Given the description of an element on the screen output the (x, y) to click on. 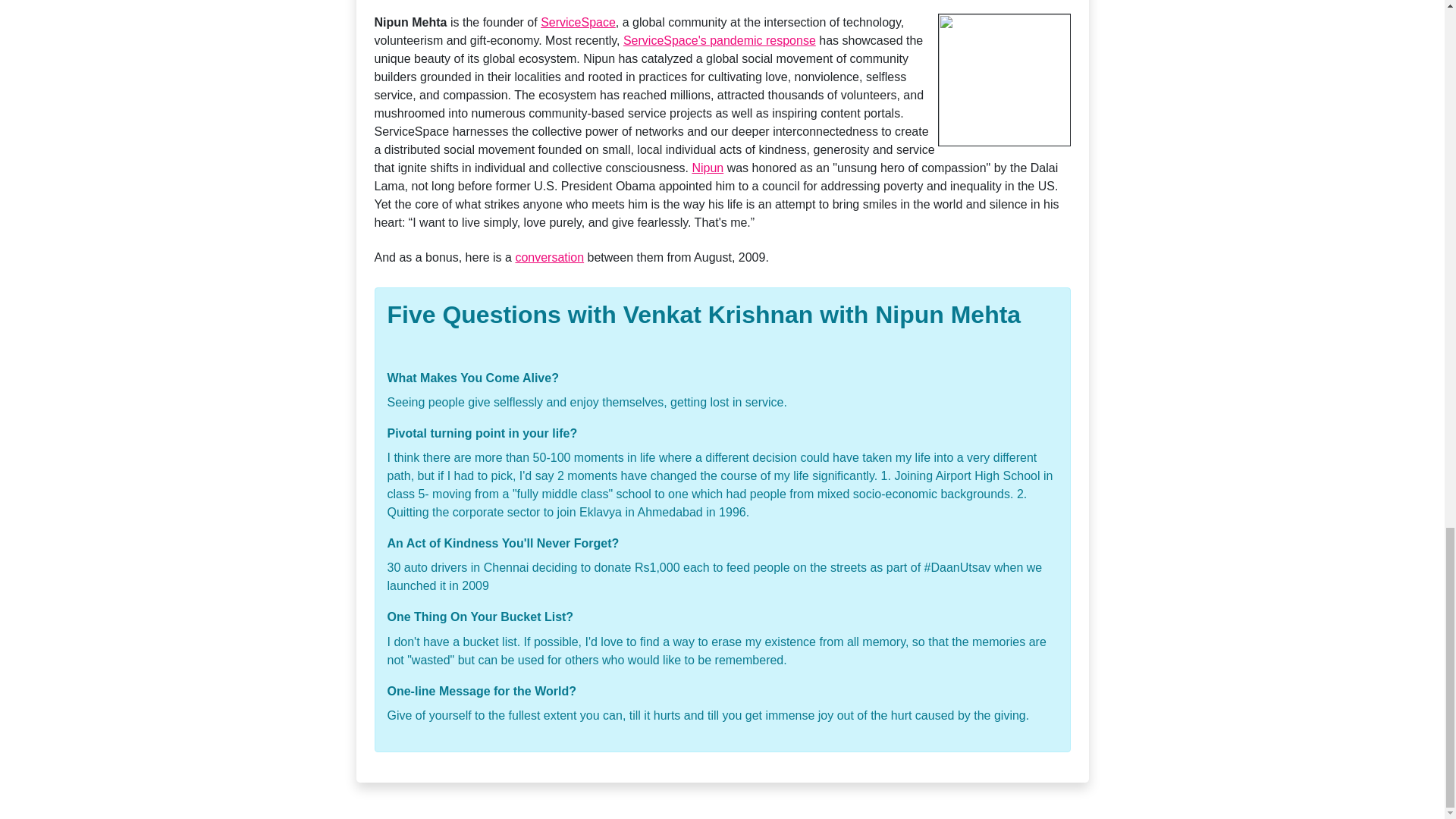
conversation (549, 256)
ServiceSpace's pandemic response (719, 40)
Nipun (707, 167)
ServiceSpace (577, 21)
